Given the description of an element on the screen output the (x, y) to click on. 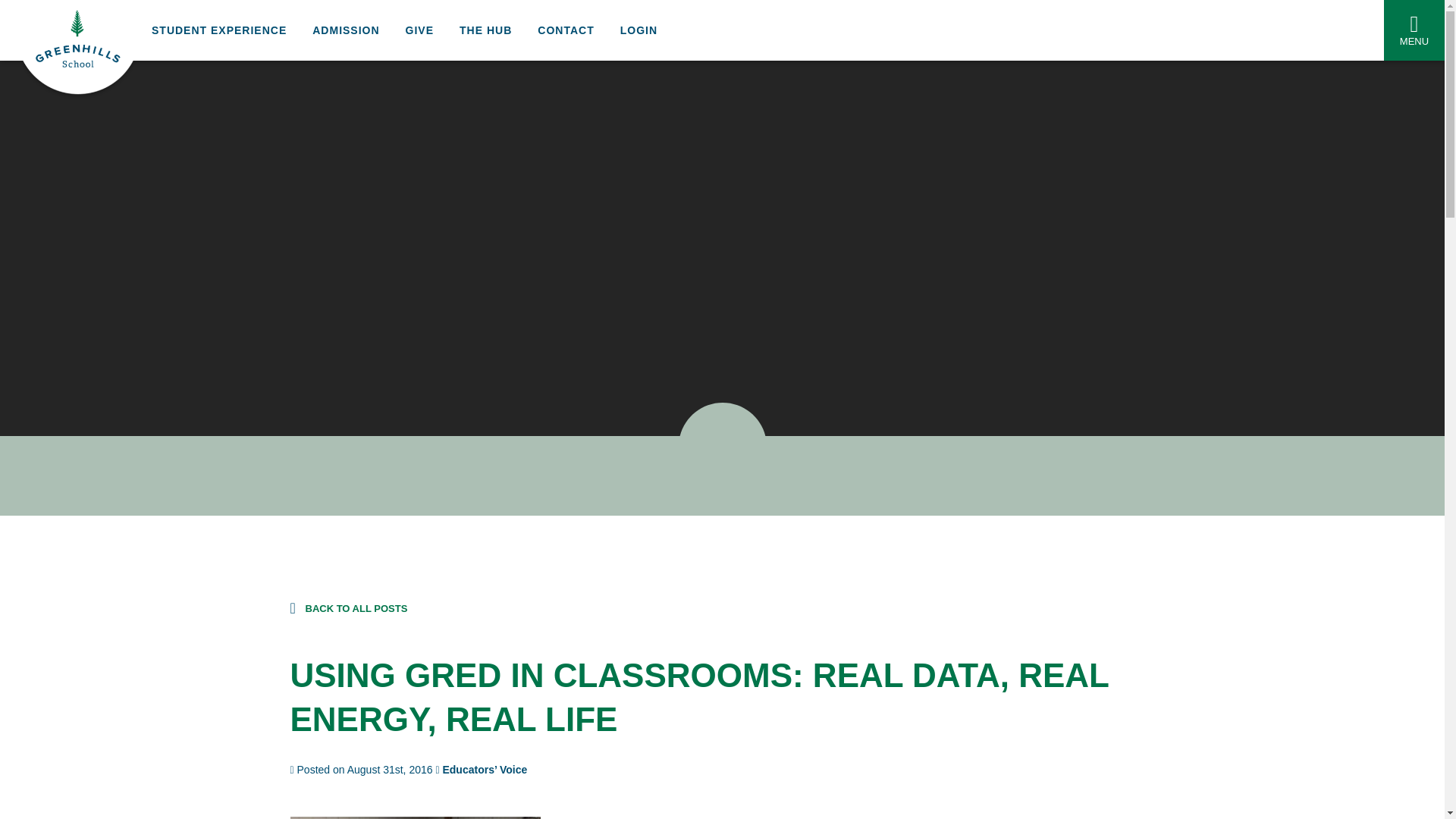
ADMISSION (345, 30)
GIVE (419, 30)
LOGIN (639, 30)
THE HUB (485, 30)
CONTACT (565, 30)
BACK TO ALL POSTS (348, 607)
STUDENT EXPERIENCE (219, 30)
